Given the description of an element on the screen output the (x, y) to click on. 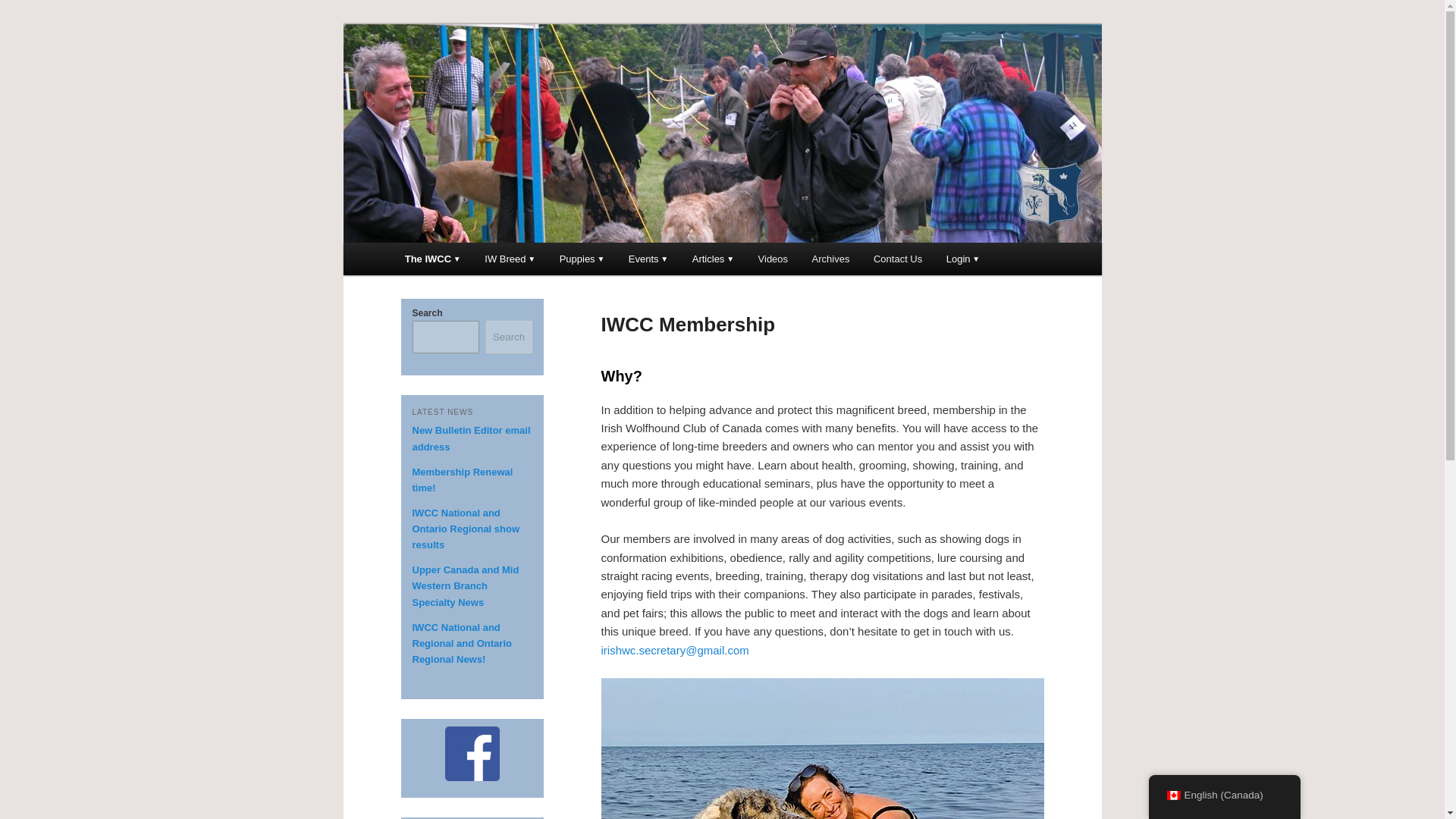
Events (647, 258)
Search (24, 8)
The IWCC (433, 258)
Companion-Dog-4 (821, 748)
Puppies (581, 258)
IW Breed (510, 258)
